Given the description of an element on the screen output the (x, y) to click on. 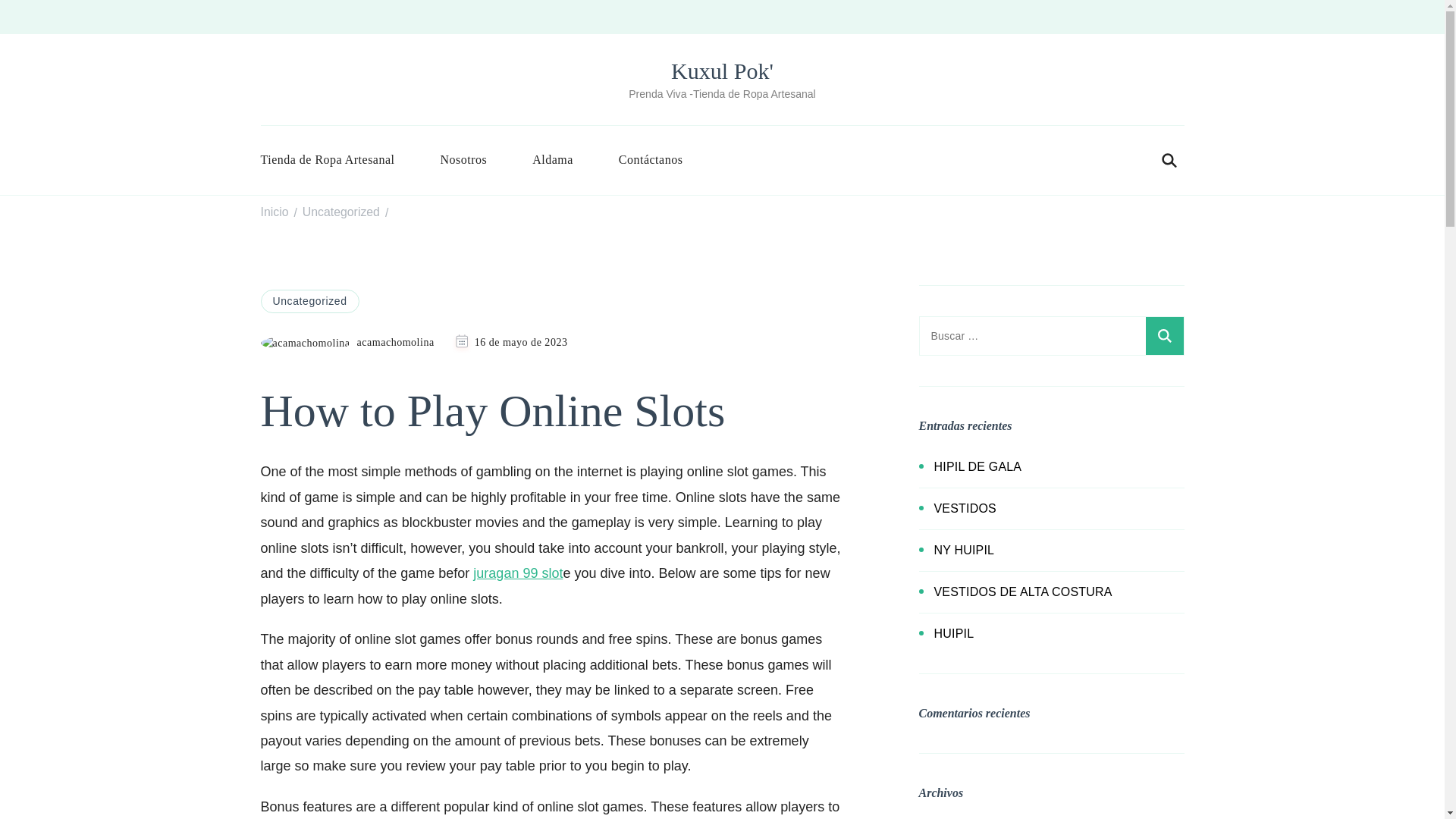
Uncategorized (341, 212)
Aldama (552, 159)
Buscar (1163, 335)
Uncategorized (309, 300)
acamachomolina (346, 342)
Tienda de Ropa Artesanal (338, 159)
Buscar (1163, 335)
Kuxul Pok' (722, 71)
juragan 99 slot (517, 572)
16 de mayo de 2023 (520, 342)
Inicio (274, 212)
Nosotros (462, 159)
